Given the description of an element on the screen output the (x, y) to click on. 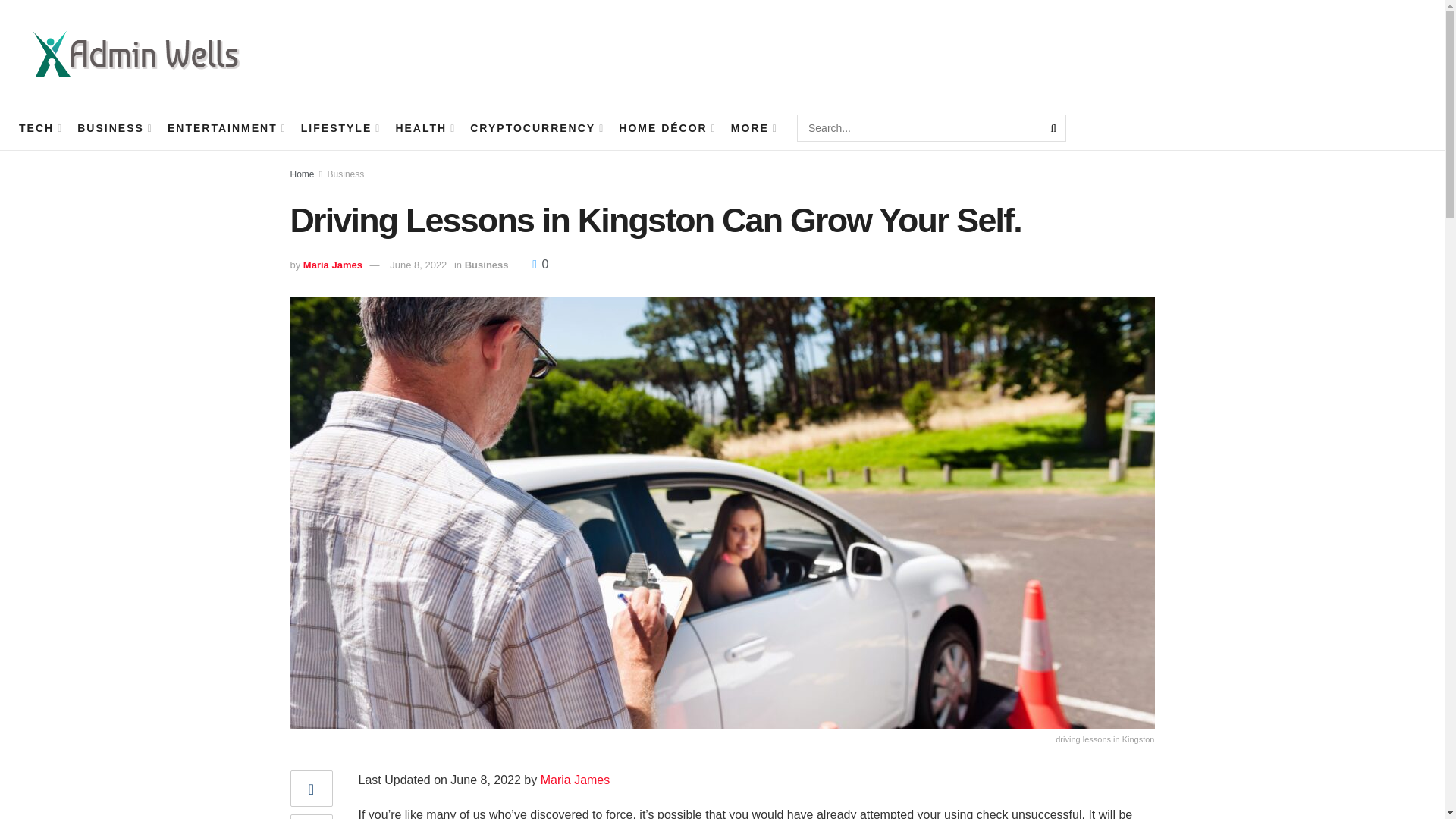
BUSINESS (114, 127)
TECH (39, 127)
SUBSCRIBE (1362, 52)
